Given the description of an element on the screen output the (x, y) to click on. 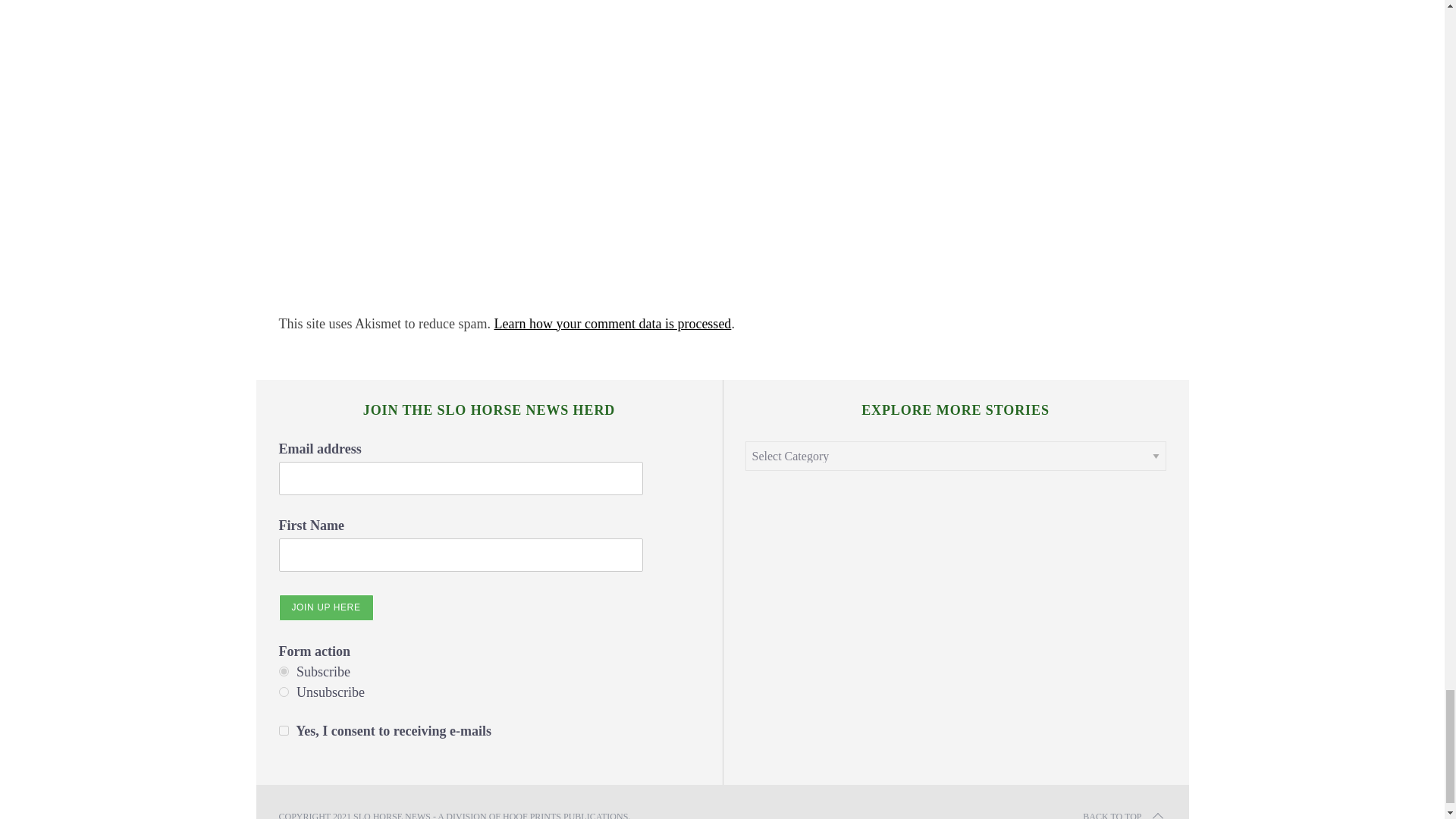
unsubscribe (283, 691)
Join up here (326, 607)
subscribe (283, 671)
1 (283, 730)
